Given the description of an element on the screen output the (x, y) to click on. 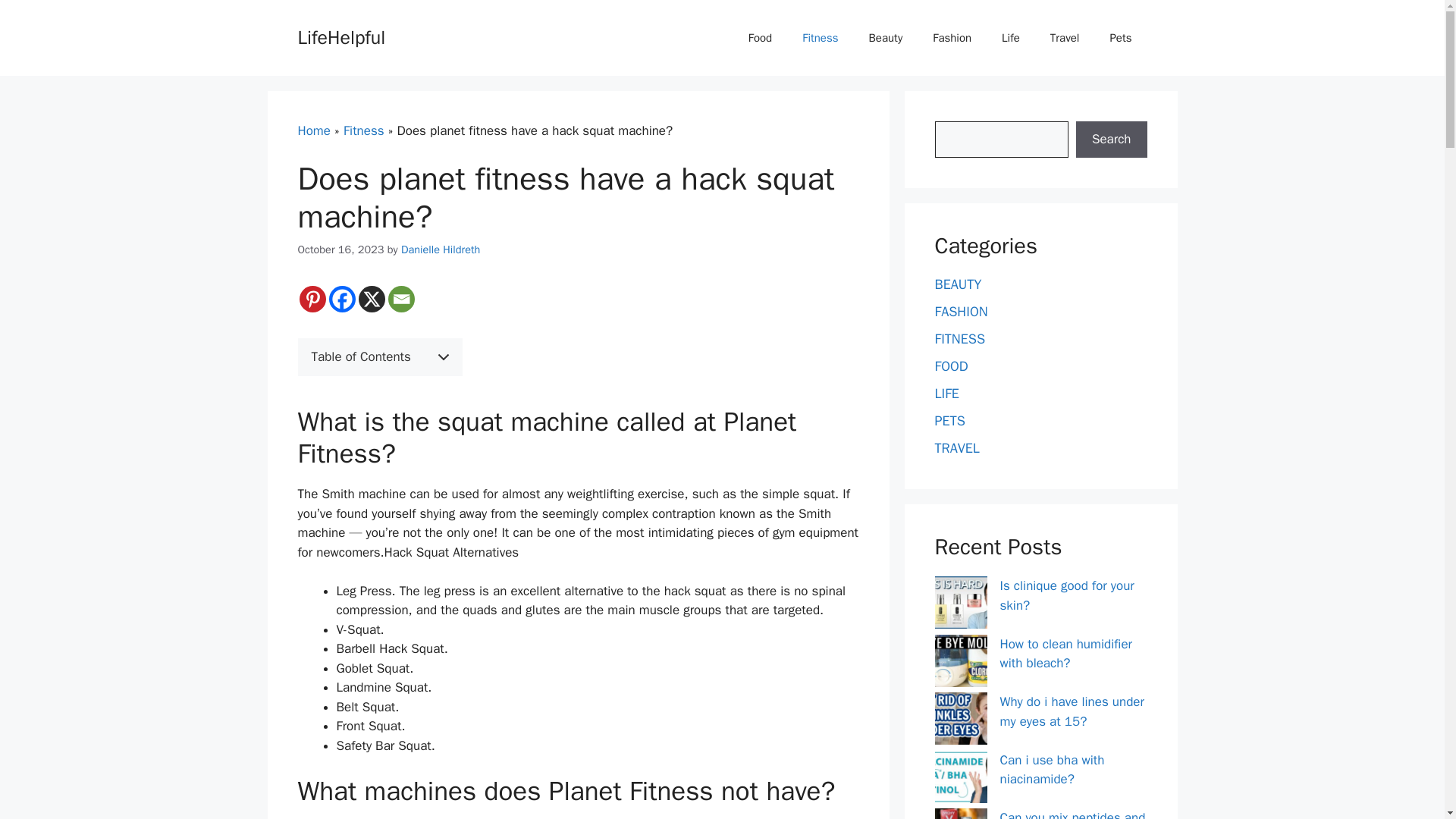
Home (313, 130)
Life (1011, 37)
Beauty (885, 37)
Email (401, 298)
Facebook (342, 298)
Pets (1120, 37)
X (371, 298)
Pinterest (311, 298)
Fashion (952, 37)
Fitness (363, 130)
Fitness (820, 37)
Danielle Hildreth (440, 249)
Travel (1064, 37)
View all posts by Danielle Hildreth (440, 249)
Food (760, 37)
